Given the description of an element on the screen output the (x, y) to click on. 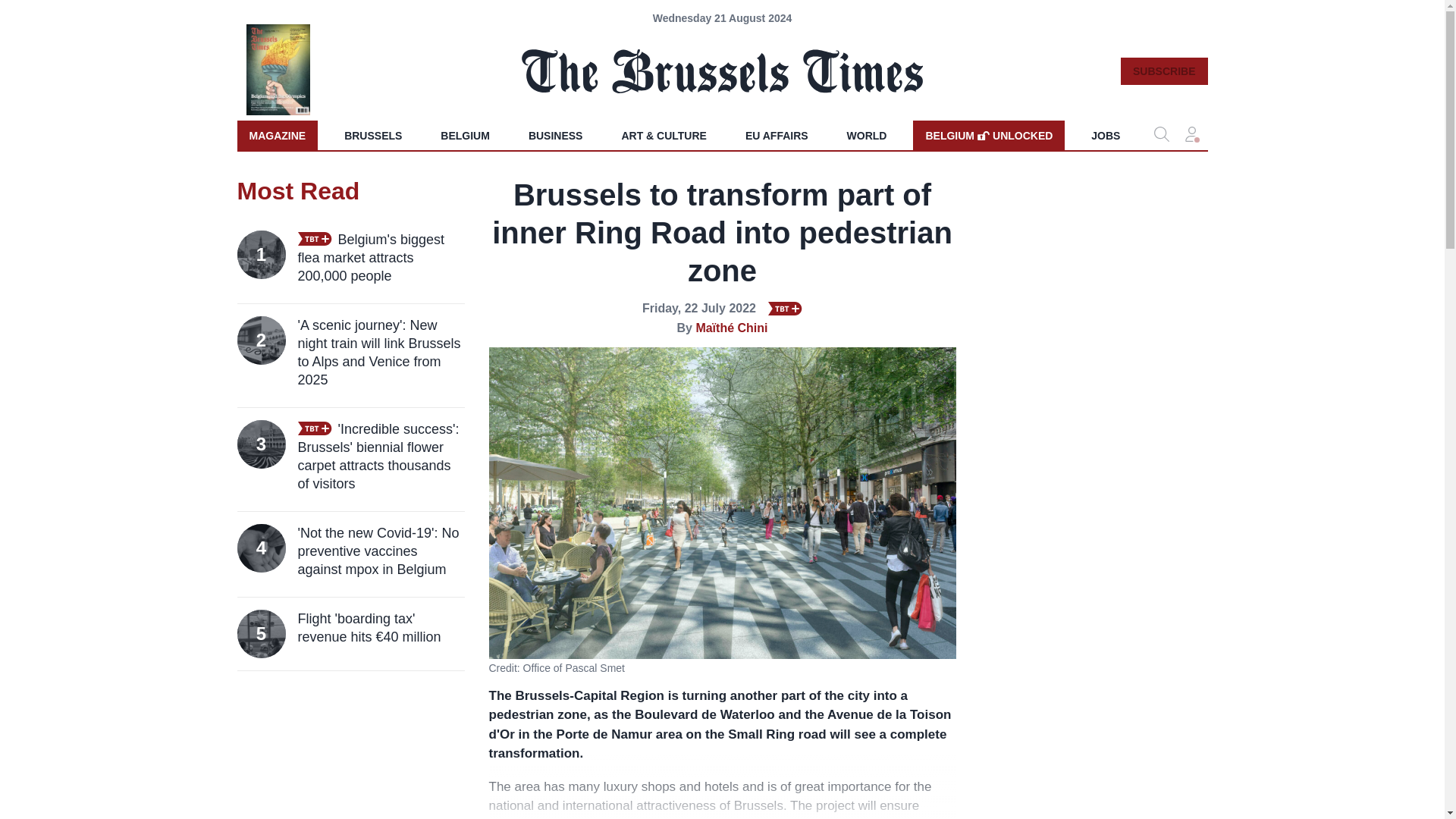
JOBS (1105, 135)
BRUSSELS (372, 135)
MAGAZINE (276, 135)
WORLD (866, 135)
EU AFFAIRS (988, 135)
SUBSCRIBE (777, 135)
